Given the description of an element on the screen output the (x, y) to click on. 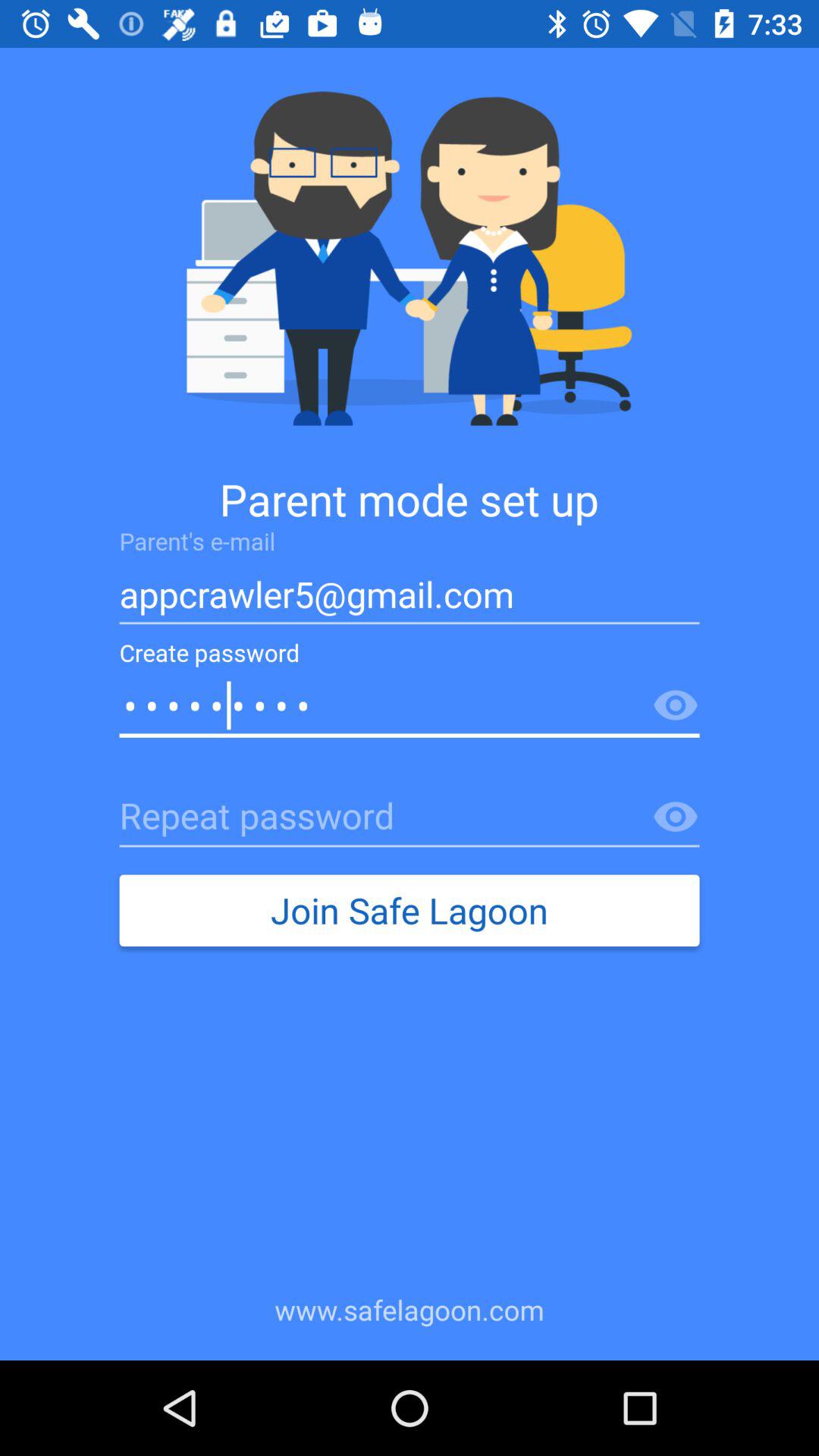
view password (675, 705)
